Given the description of an element on the screen output the (x, y) to click on. 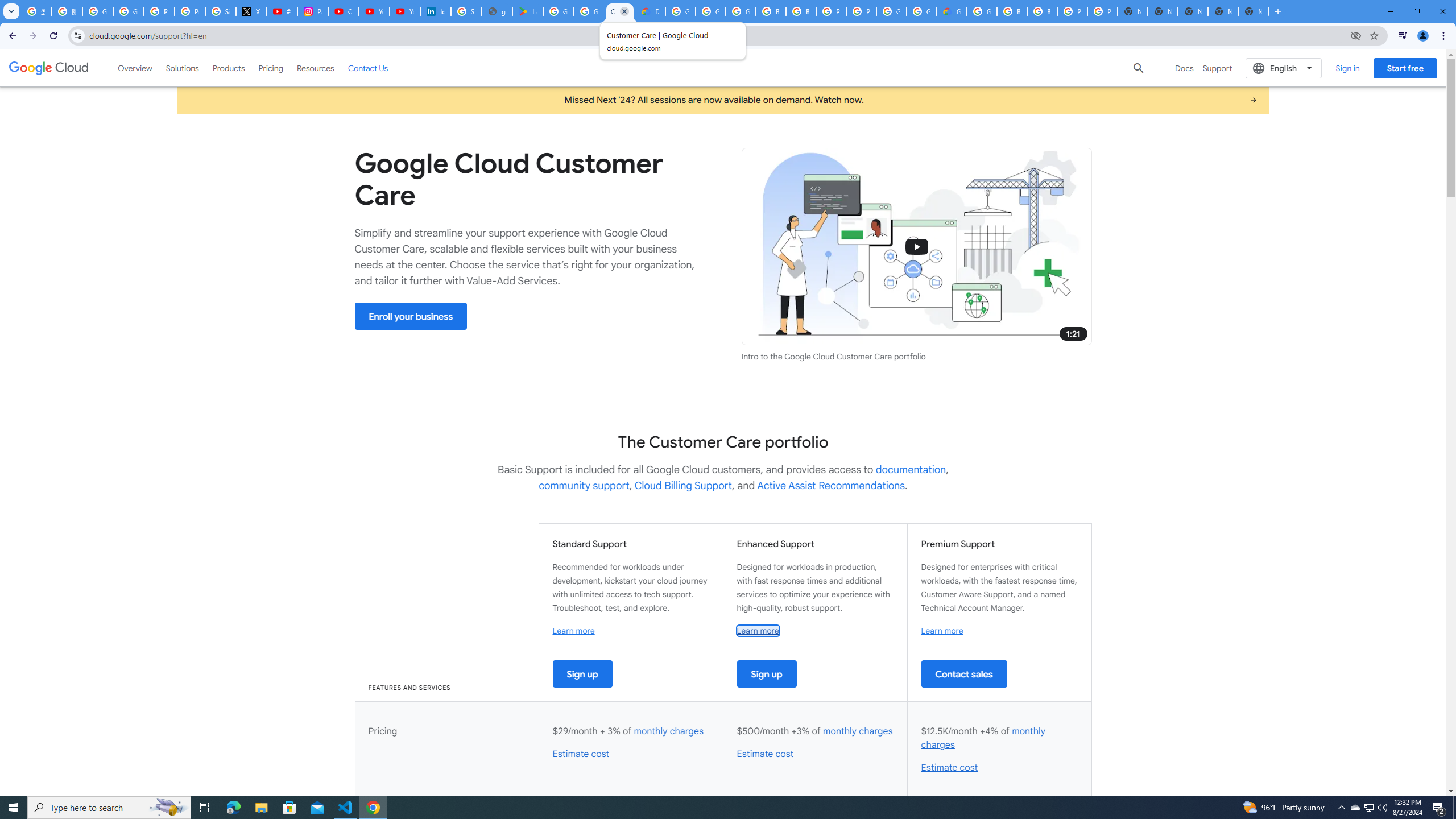
Active Assist Recommendations (830, 485)
X (251, 11)
Sign in - Google Accounts (465, 11)
community support (583, 485)
Google Cloud Platform (890, 11)
Docs (1183, 67)
Google Cloud Platform (921, 11)
Contact sales (963, 673)
